Given the description of an element on the screen output the (x, y) to click on. 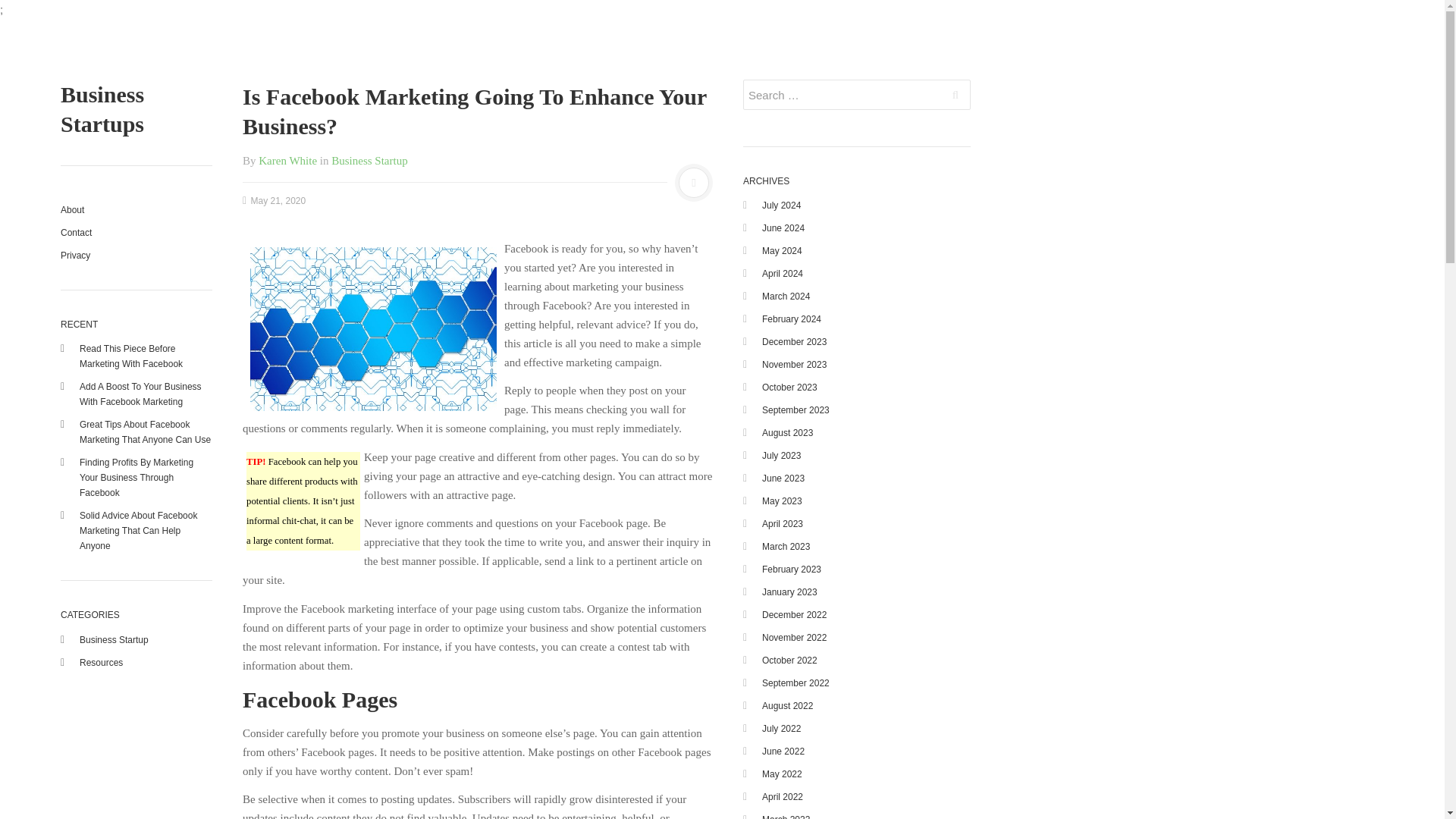
May 21, 2020 (274, 200)
Karen White (288, 160)
October 2023 (788, 387)
Business Startup (114, 638)
Contact (123, 231)
November 2023 (794, 364)
May 2023 (781, 501)
Search (955, 94)
Privacy (123, 254)
May 2024 (781, 250)
